Given the description of an element on the screen output the (x, y) to click on. 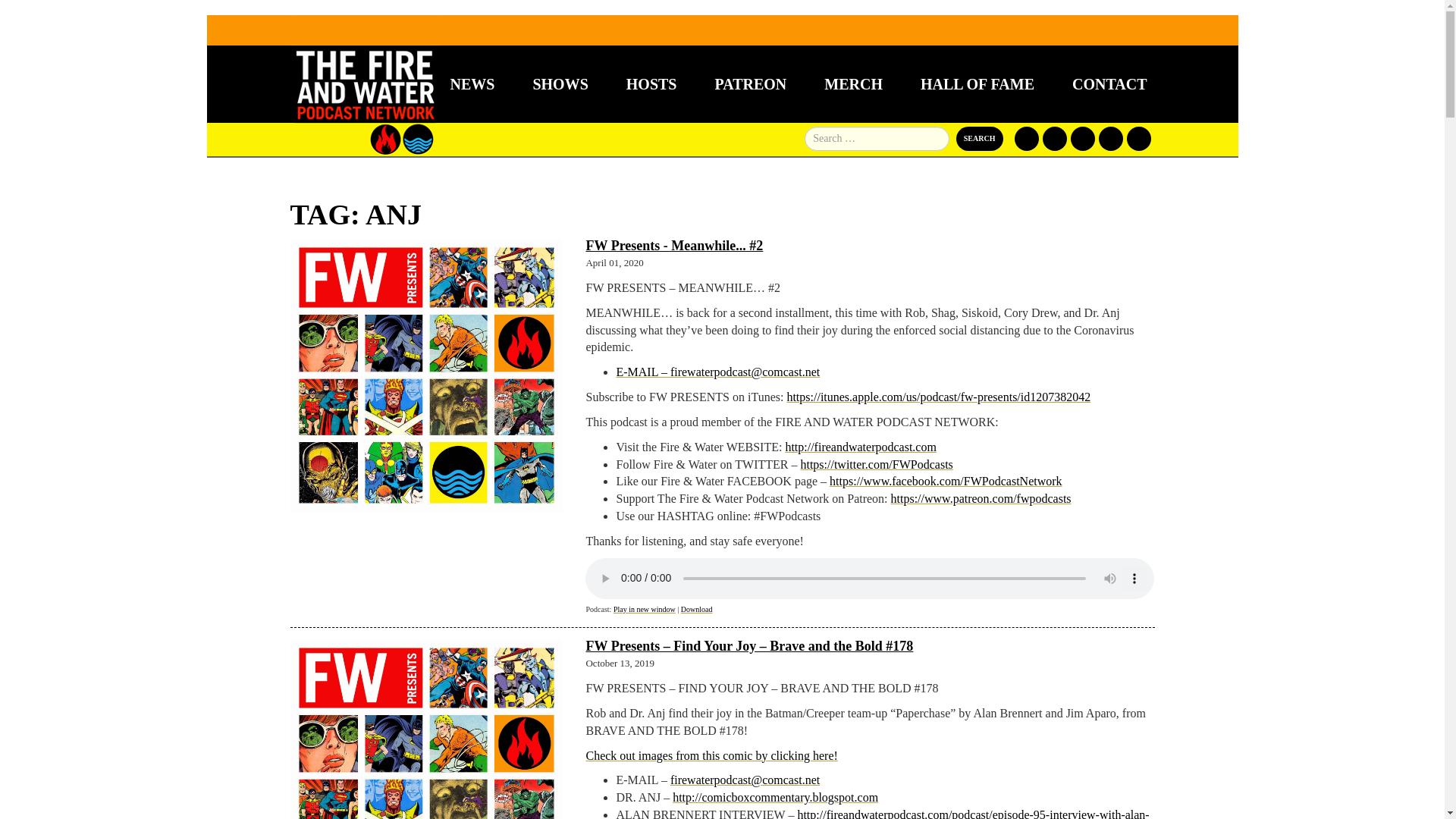
Facebook (1026, 138)
MERCH (853, 83)
Patreon (750, 83)
Merch (853, 83)
Download (697, 609)
Patreon (1082, 138)
Check out images from this comic by clicking here! (711, 755)
RSS (1138, 138)
YouTube (1109, 138)
SHOWS (560, 83)
